Given the description of an element on the screen output the (x, y) to click on. 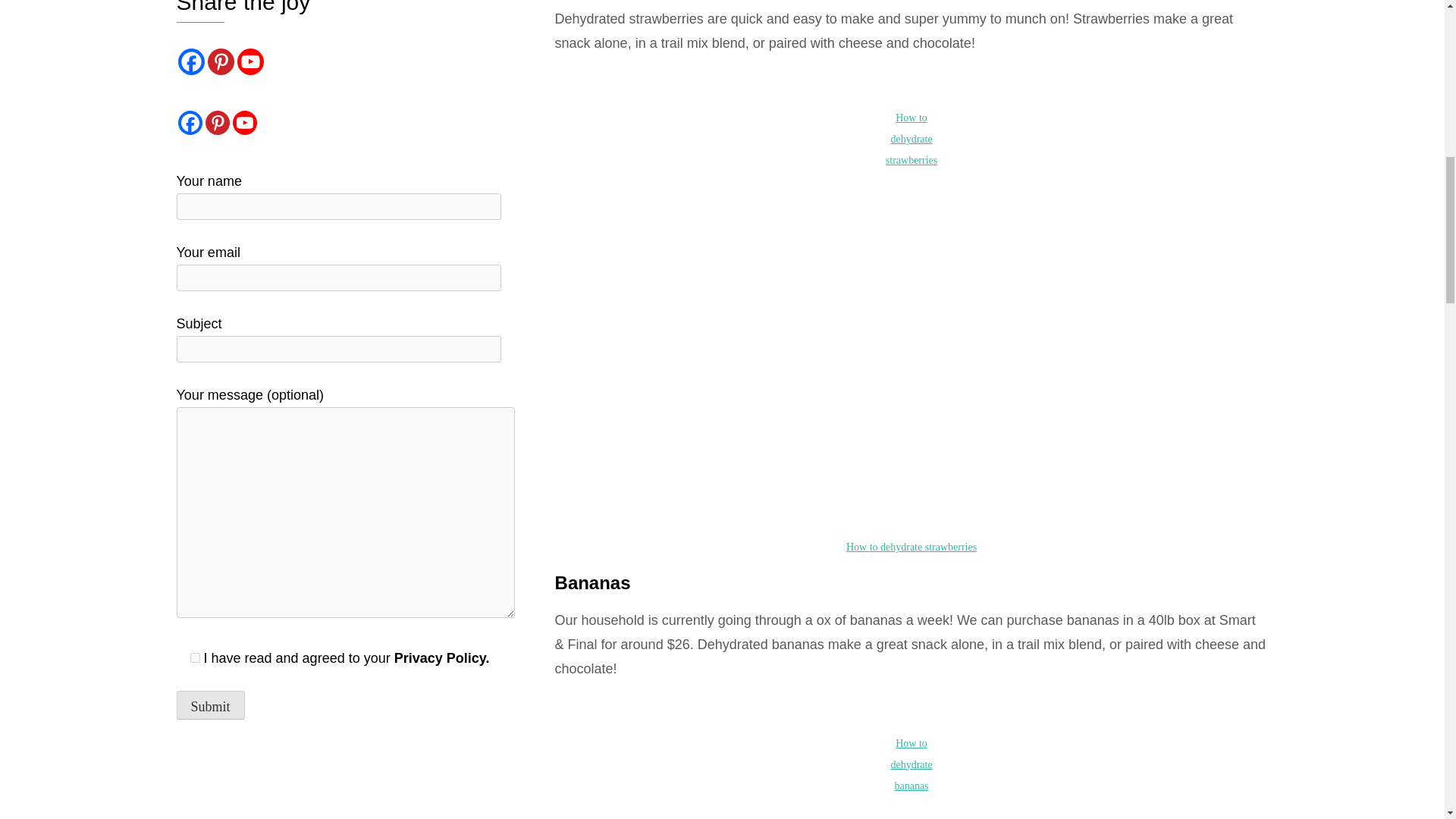
Youtube Channel (243, 122)
Facebook (189, 122)
Submit (210, 705)
How to dehydrate strawberries (910, 546)
How to dehydrate strawberries (911, 139)
Facebook (190, 61)
Pinterest (216, 122)
1 (194, 657)
Youtube (249, 61)
How To Dehydrate Bananas (865, 813)
